Given the description of an element on the screen output the (x, y) to click on. 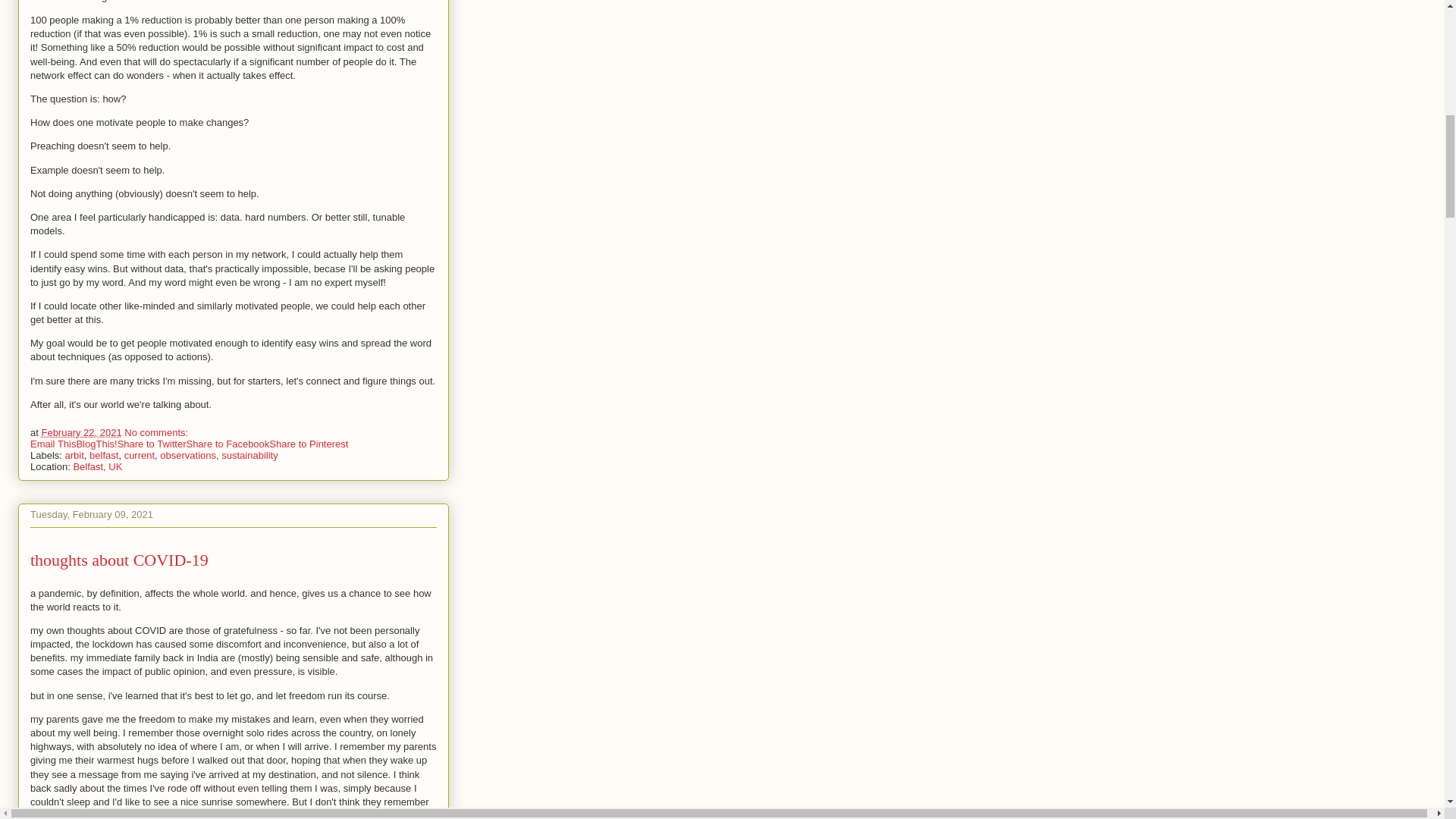
Email This (52, 443)
arbit (74, 454)
Share to Pinterest (308, 443)
BlogThis! (95, 443)
Share to Twitter (151, 443)
BlogThis! (95, 443)
Share to Twitter (151, 443)
sustainability (249, 454)
thoughts about COVID-19 (119, 559)
permanent link (80, 431)
Share to Pinterest (308, 443)
belfast (102, 454)
current (138, 454)
February 22, 2021 (80, 431)
No comments: (155, 431)
